Given the description of an element on the screen output the (x, y) to click on. 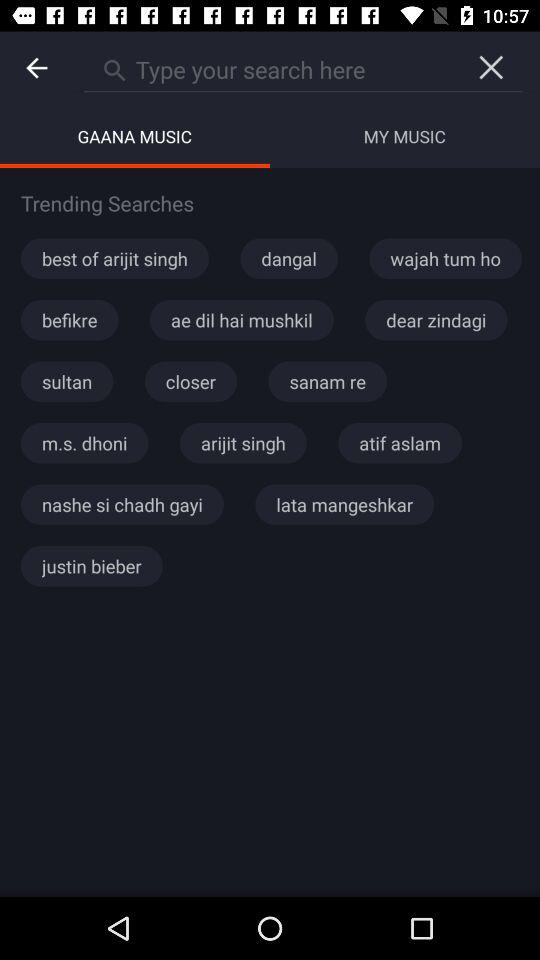
launch the icon above gaana music icon (271, 67)
